Given the description of an element on the screen output the (x, y) to click on. 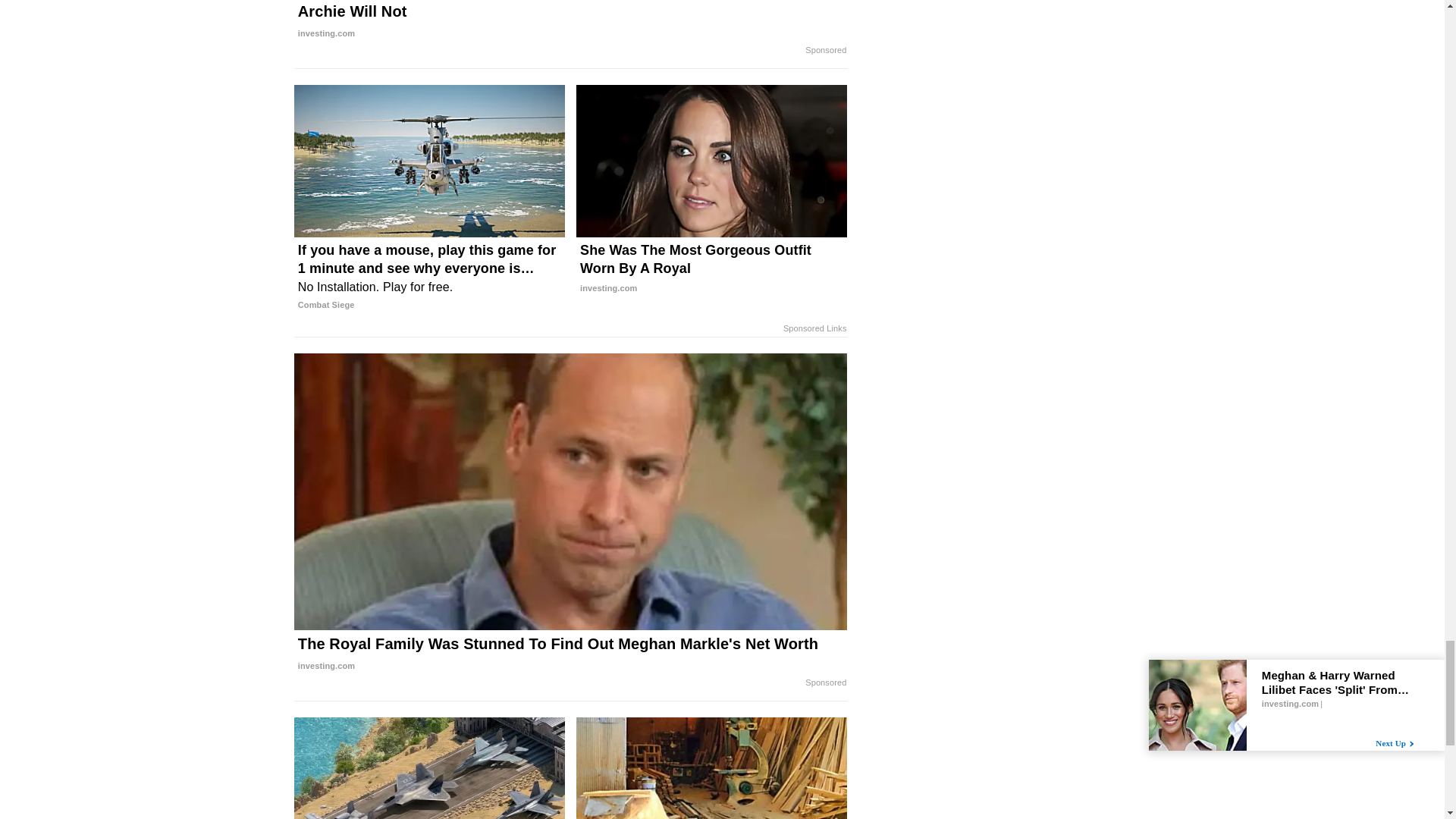
Sponsored (825, 50)
She Was The Most Gorgeous Outfit Worn By A Royal (711, 268)
Sponsored (825, 683)
Sponsored Links (815, 328)
